Given the description of an element on the screen output the (x, y) to click on. 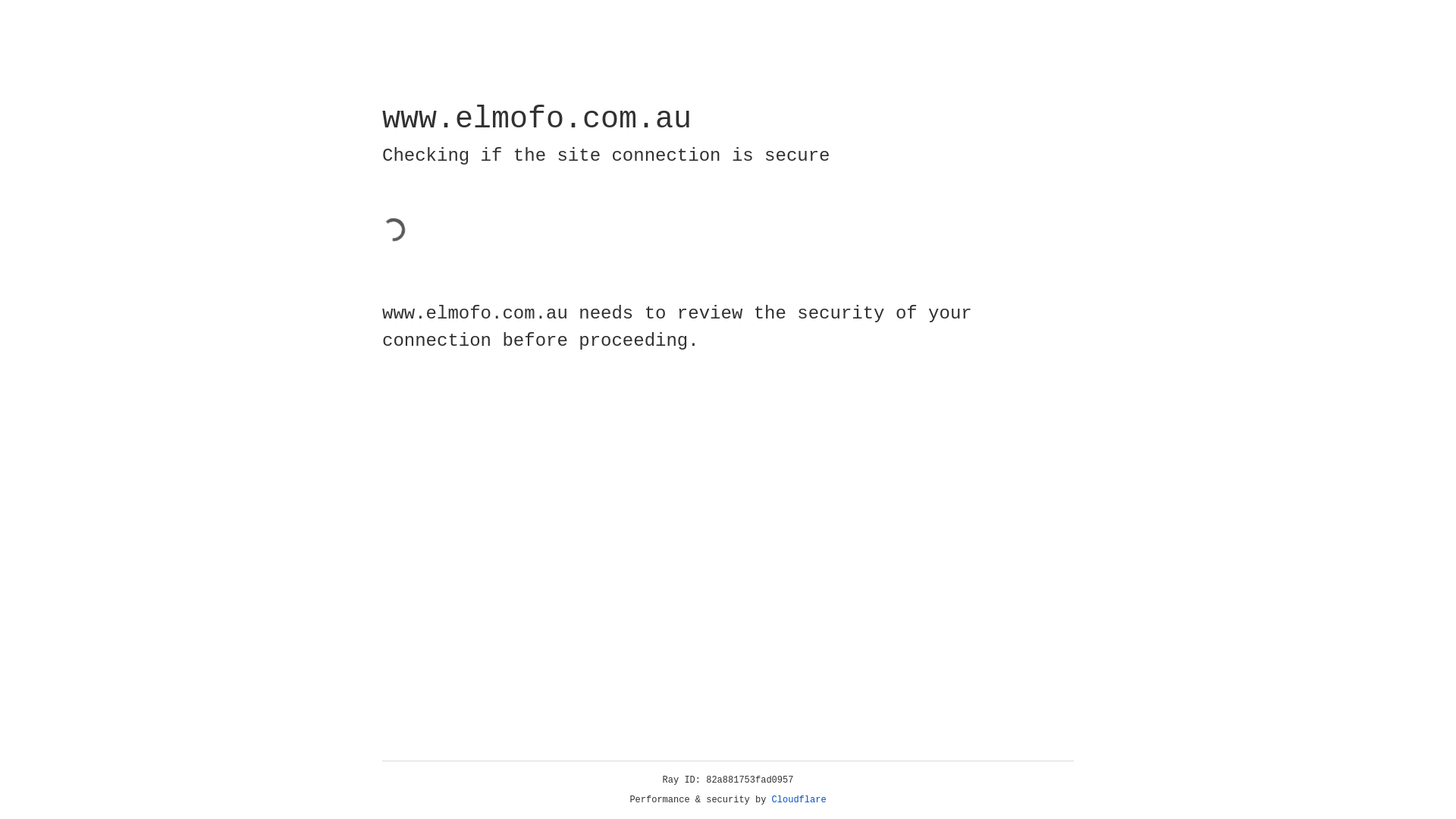
Cloudflare Element type: text (798, 799)
